Given the description of an element on the screen output the (x, y) to click on. 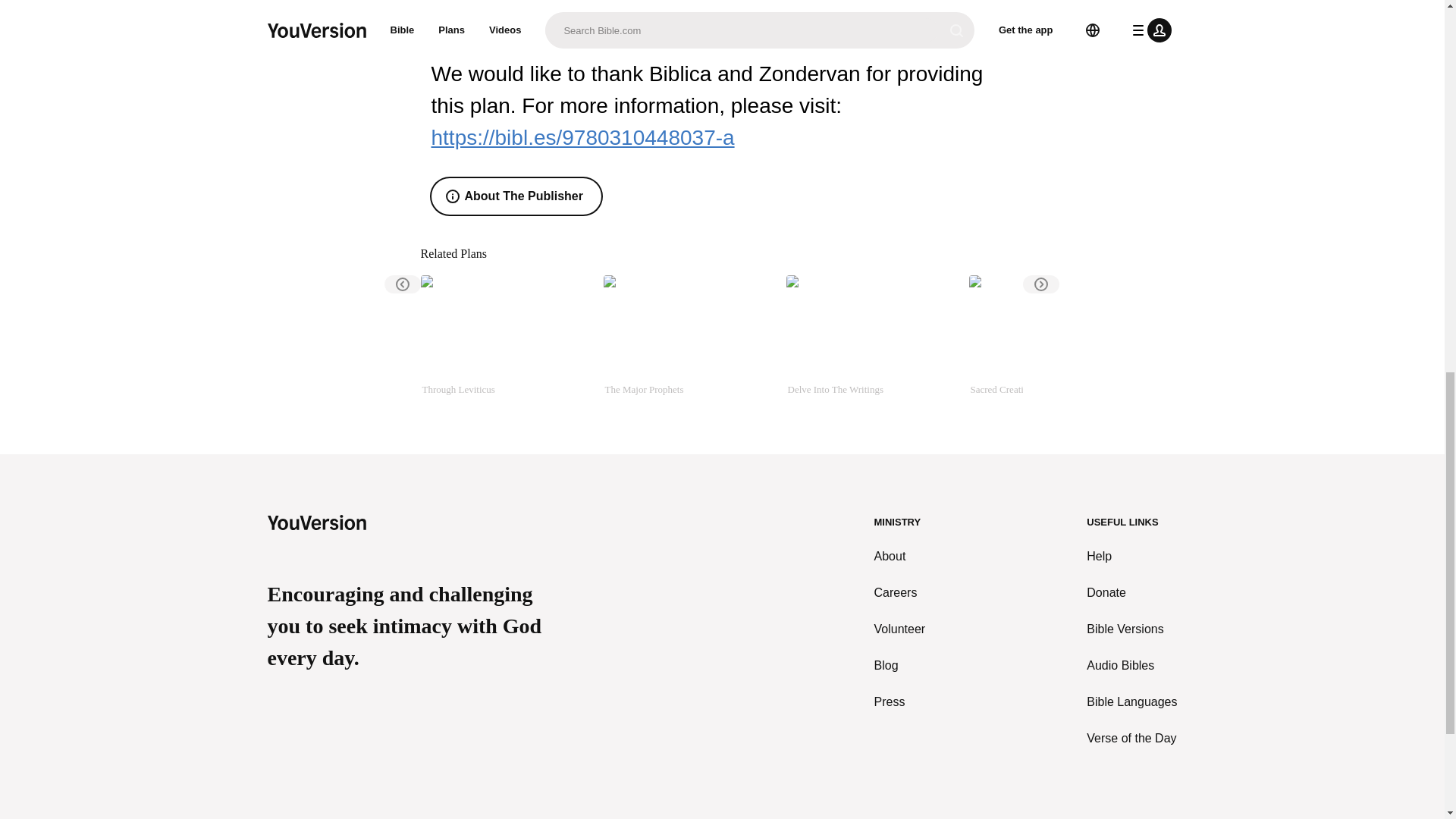
Sacred Creativity (1054, 343)
About The Publisher (514, 196)
Careers (900, 592)
Bible Languages (1131, 701)
The Major Prophets (689, 343)
Delve Into The Writings (871, 343)
Audio Bibles (1131, 665)
Bible Versions (1131, 628)
Through Leviticus (505, 343)
Press (900, 701)
